Given the description of an element on the screen output the (x, y) to click on. 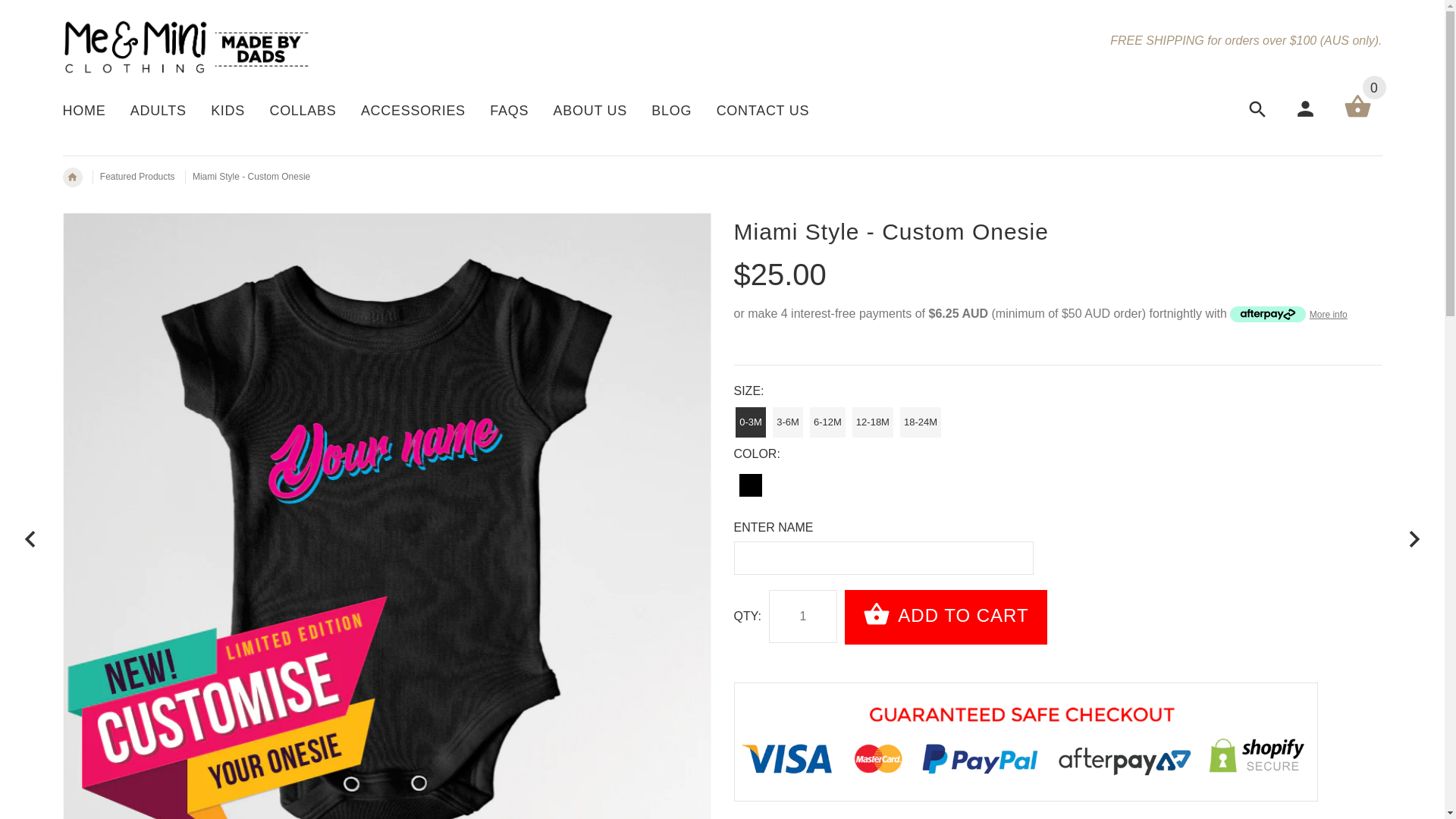
ADD TO CART Element type: text (945, 616)
More info Element type: text (1288, 313)
CONTACT US Element type: text (756, 112)
ADULTS Element type: text (158, 112)
Featured Products Element type: text (137, 176)
HOME Element type: text (89, 112)
KIDS Element type: text (227, 112)
ABOUT US Element type: text (589, 112)
0 Element type: text (1357, 115)
COLLABS Element type: text (302, 112)
ACCESSORIES Element type: text (412, 112)
FAQS Element type: text (508, 112)
BLOG Element type: text (671, 112)
